Given the description of an element on the screen output the (x, y) to click on. 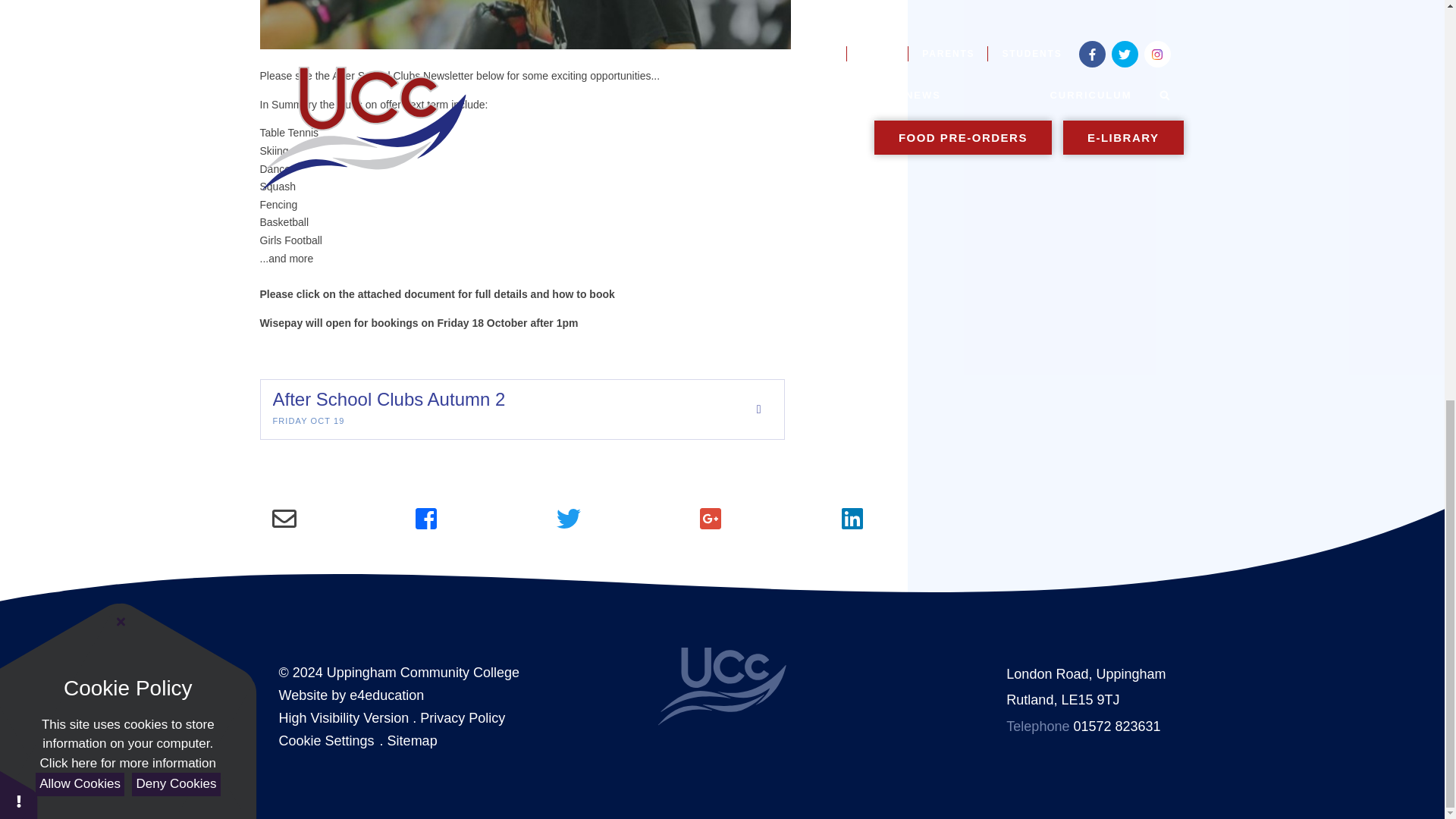
Cookie Settings (18, 18)
Cookie Settings (326, 740)
Allow Cookies (78, 7)
Deny Cookies (175, 7)
